Given the description of an element on the screen output the (x, y) to click on. 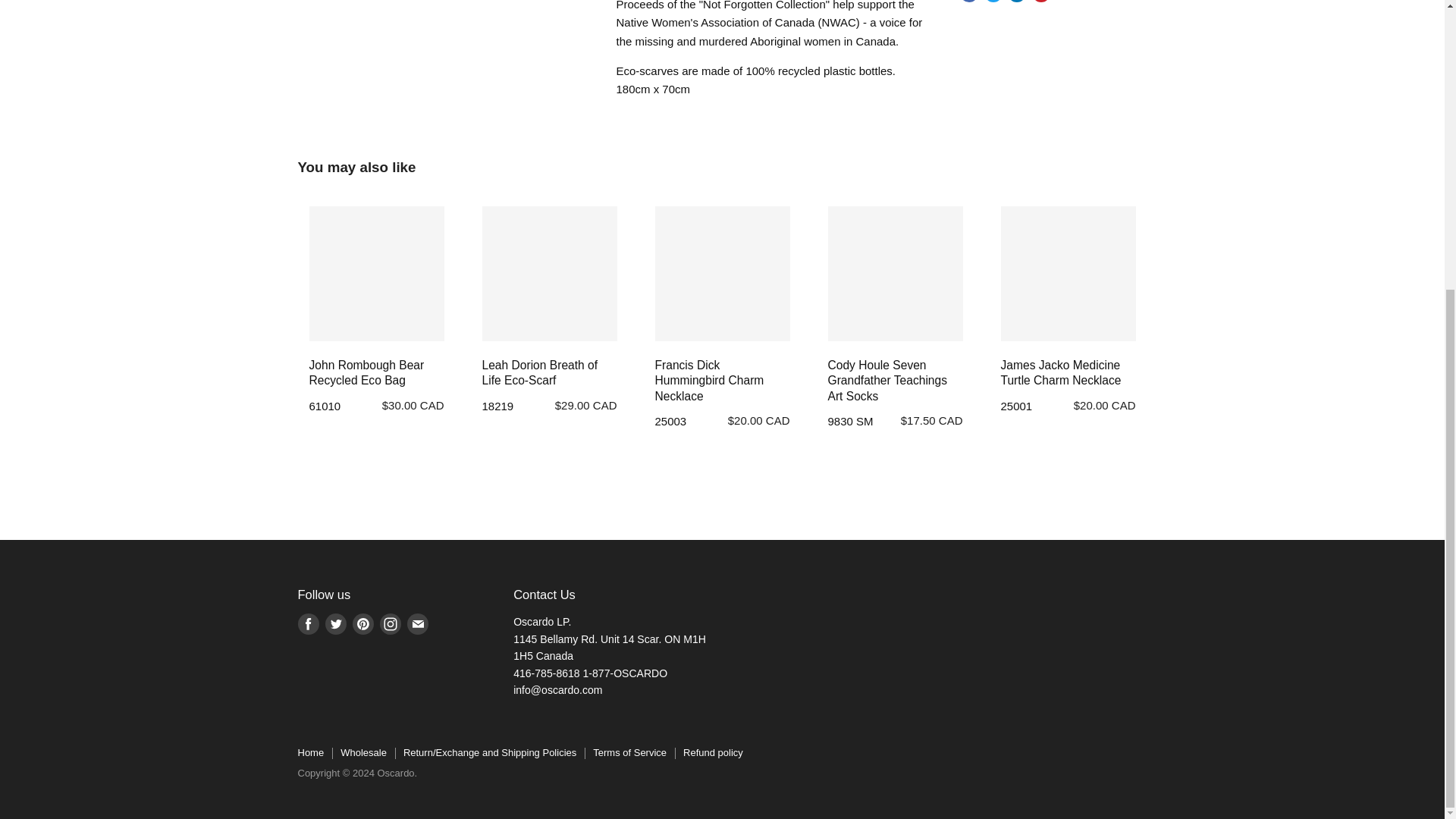
Facebook (307, 624)
Pinterest (362, 624)
E-mail (416, 624)
Instagram (389, 624)
Twitter (335, 624)
